Given the description of an element on the screen output the (x, y) to click on. 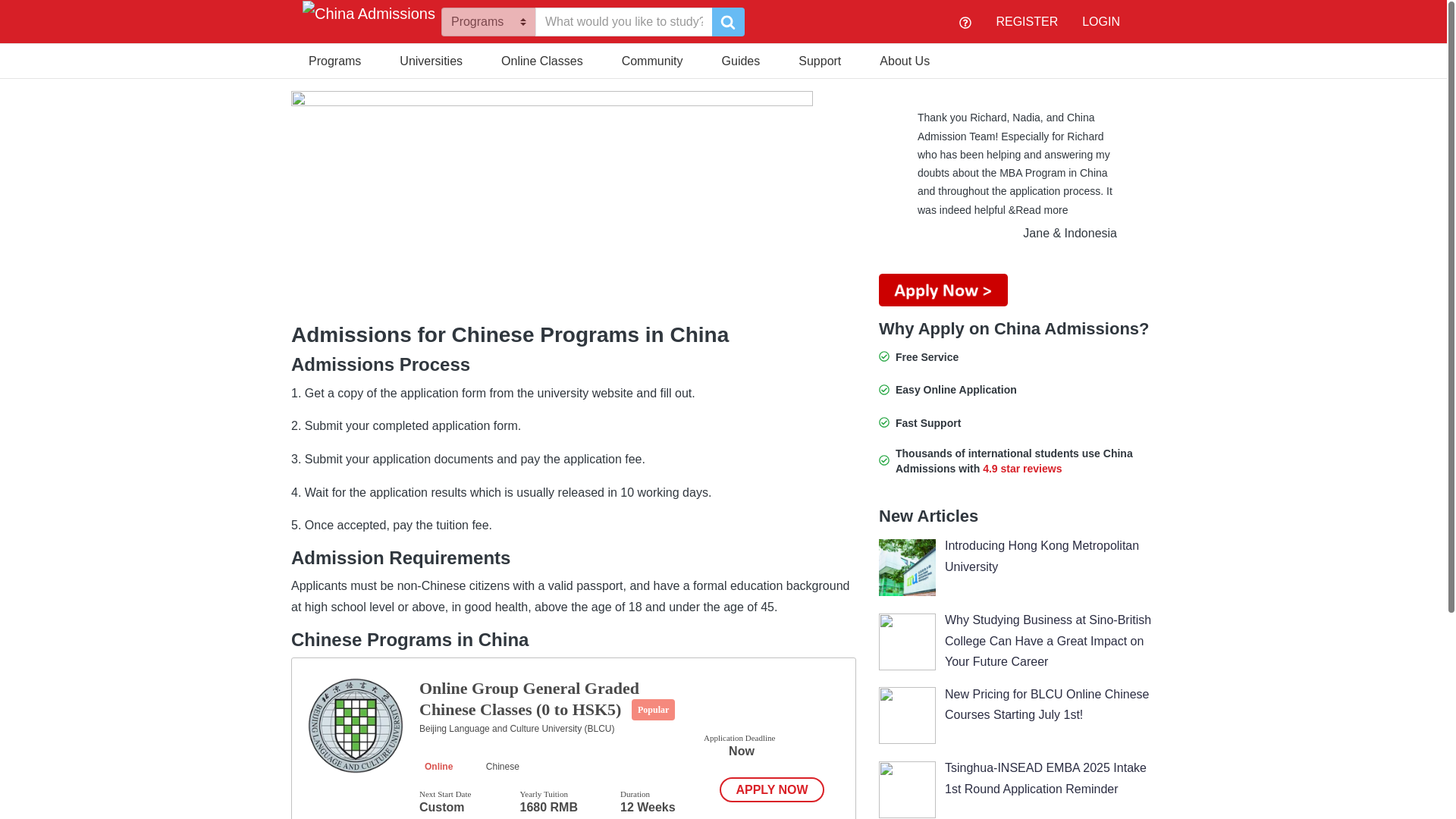
LOGIN (1100, 20)
Programs (334, 59)
REGISTER (1027, 20)
